Given the description of an element on the screen output the (x, y) to click on. 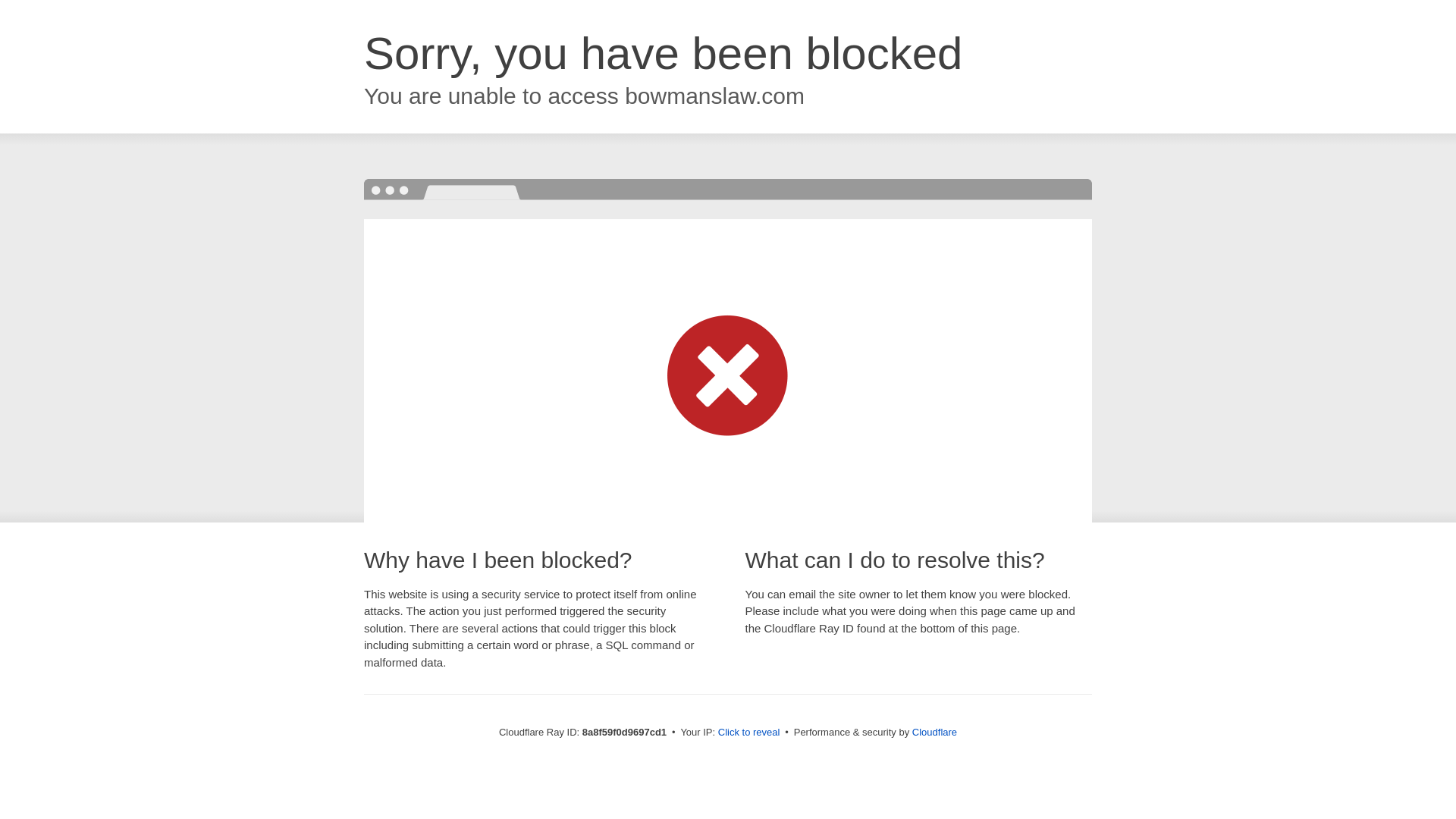
Cloudflare (934, 731)
Click to reveal (748, 732)
